Given the description of an element on the screen output the (x, y) to click on. 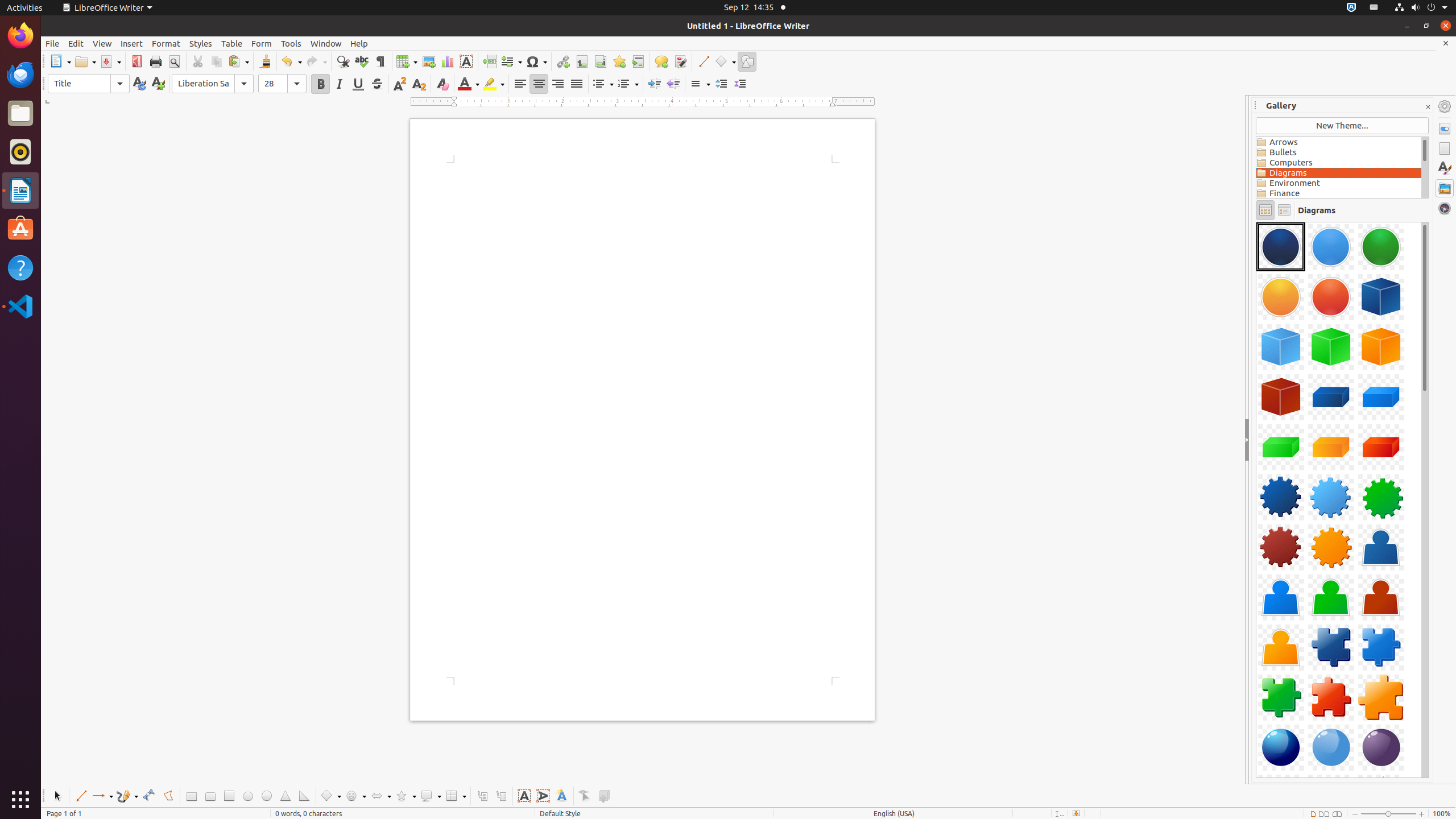
Clone Element type: push-button (264, 61)
Component-Circle05-Transparent-Red Element type: list-item (1330, 296)
Square Element type: push-button (228, 795)
Edit Points Element type: push-button (584, 795)
New Theme Element type: push-button (1341, 125)
